Given the description of an element on the screen output the (x, y) to click on. 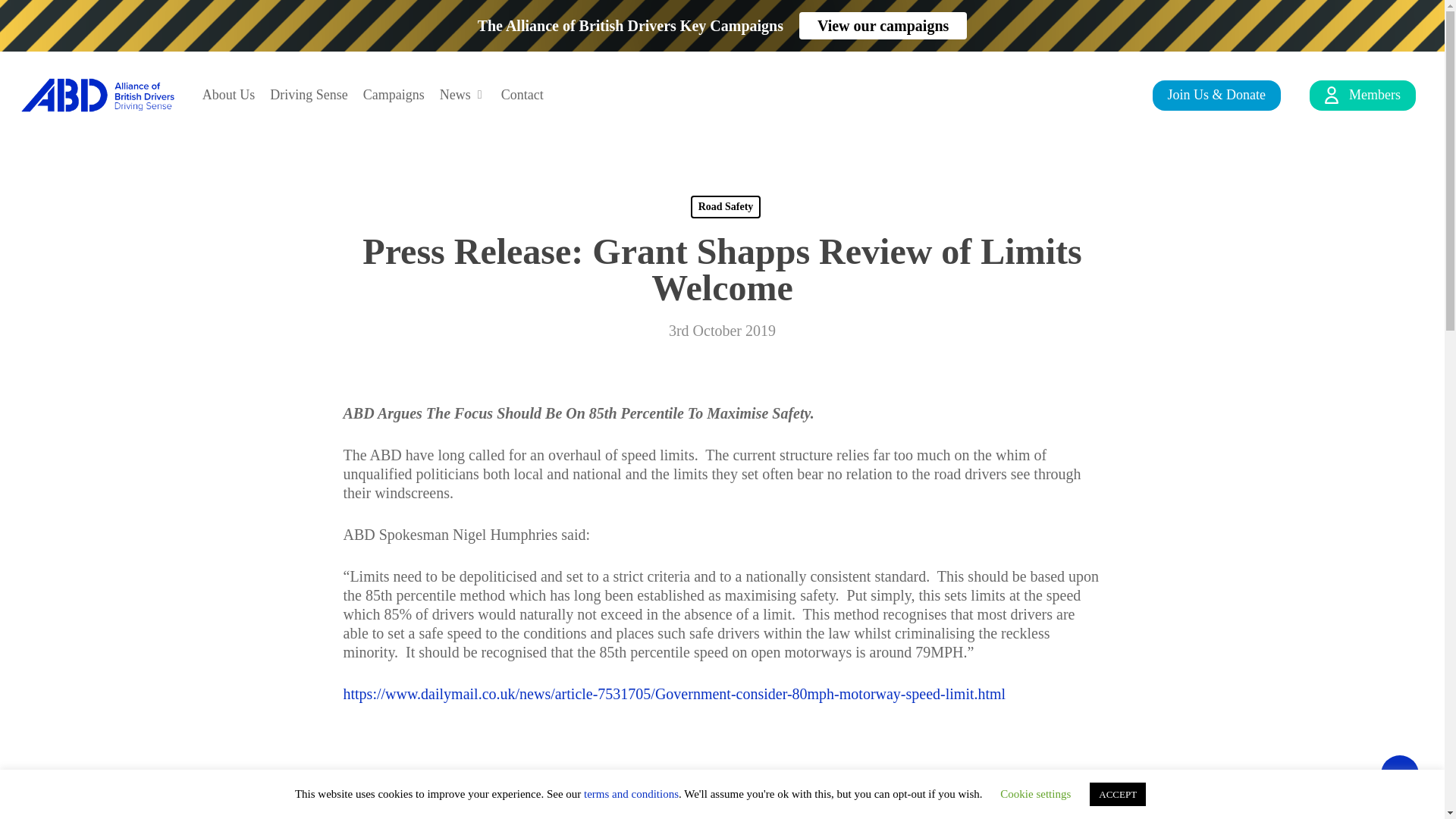
View our campaigns (882, 25)
Road Safety (725, 206)
Driving Sense (308, 94)
About Us (229, 94)
search (1099, 93)
Campaigns (393, 94)
Members (1361, 94)
News (462, 94)
Contact (521, 94)
